Given the description of an element on the screen output the (x, y) to click on. 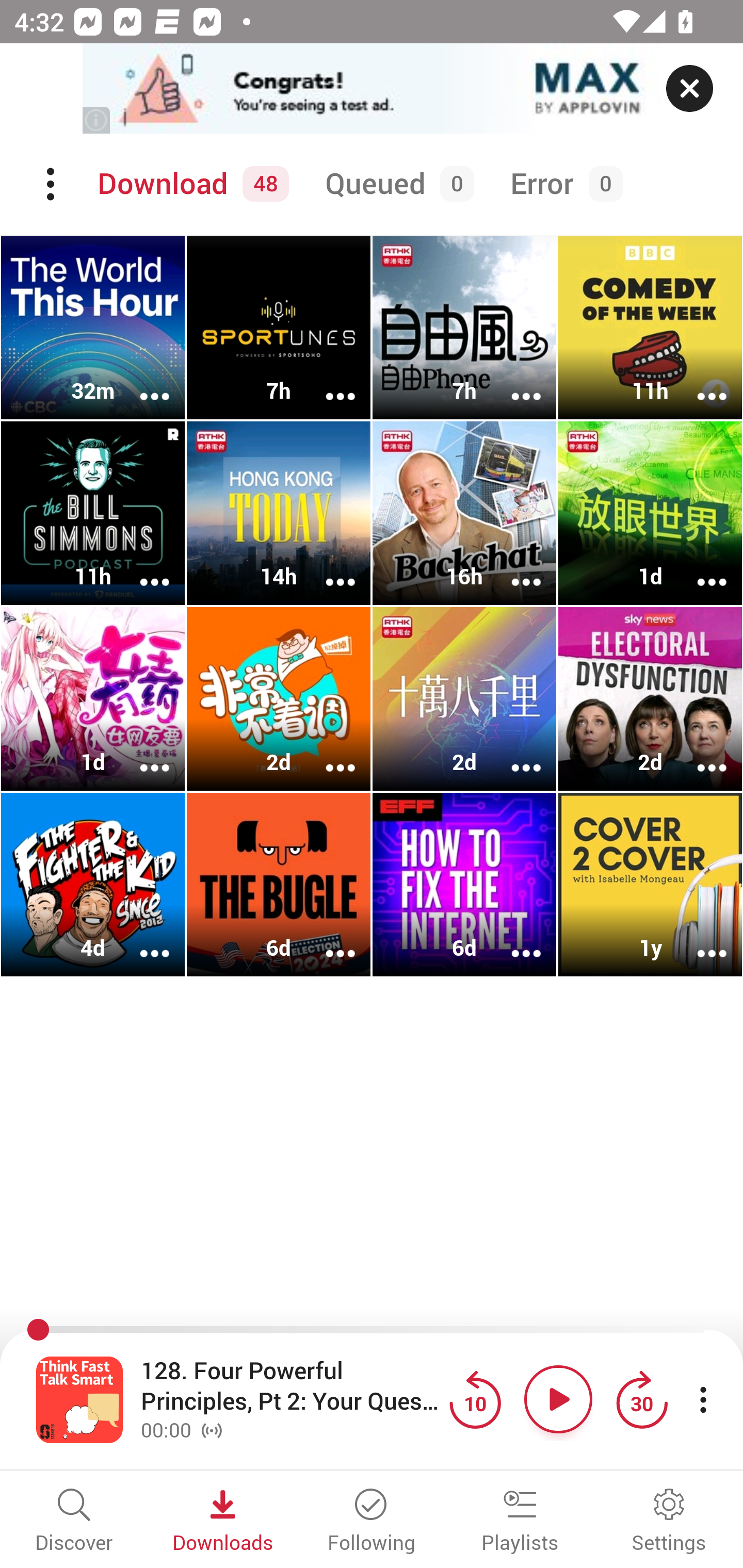
app-monetization (371, 88)
(i) (96, 119)
Menu (52, 184)
 Download 48 (189, 184)
 Queued 0 (396, 184)
 Error 0 (562, 184)
The World This Hour 32m More options More options (92, 327)
Sportunes HK 7h More options More options (278, 327)
自由风自由PHONE 7h More options More options (464, 327)
Comedy of the Week 11h More options More options (650, 327)
More options (141, 382)
More options (326, 382)
More options (512, 382)
More options (698, 382)
Hong Kong Today 14h More options More options (278, 513)
Backchat 16h More options More options (464, 513)
放眼世界 1d More options More options (650, 513)
More options (141, 569)
More options (326, 569)
More options (512, 569)
More options (698, 569)
女王有药丨爆笑脱口秀 1d More options More options (92, 698)
非常不着调 2d More options More options (278, 698)
十萬八千里 2d More options More options (464, 698)
Electoral Dysfunction 2d More options More options (650, 698)
More options (141, 754)
More options (326, 754)
More options (512, 754)
More options (698, 754)
The Fighter & The Kid 4d More options More options (92, 883)
The Bugle 6d More options More options (278, 883)
Cover 2 Cover 1y More options More options (650, 883)
More options (141, 940)
More options (326, 940)
More options (512, 940)
More options (698, 940)
Open fullscreen player (79, 1399)
More player controls (703, 1399)
Play button (558, 1398)
Jump back (475, 1399)
Jump forward (641, 1399)
Discover (74, 1521)
Downloads (222, 1521)
Following (371, 1521)
Playlists (519, 1521)
Settings (668, 1521)
